Given the description of an element on the screen output the (x, y) to click on. 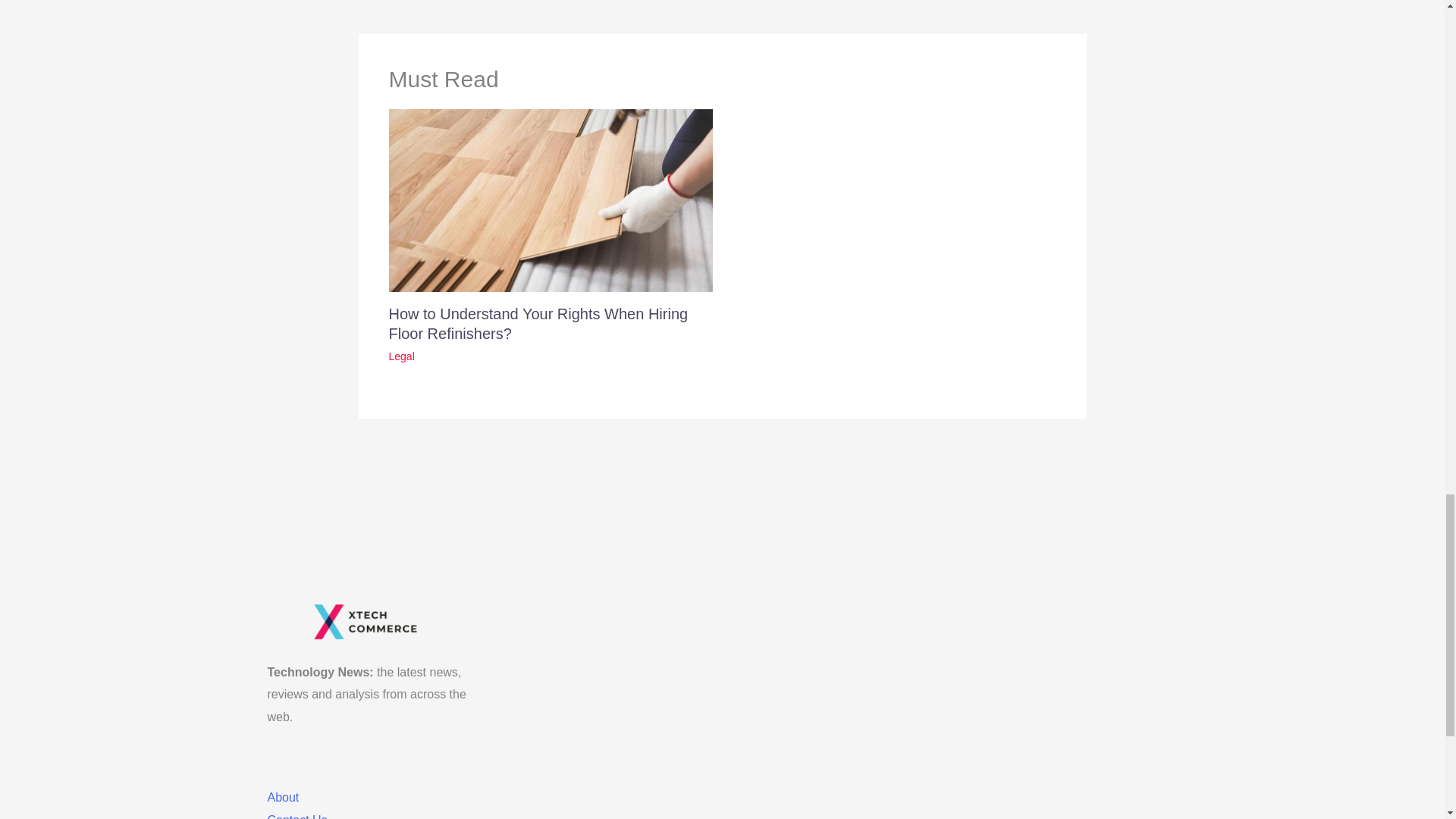
Contact Us (296, 816)
About (282, 797)
Science and Sustainability: What You Need to Know (463, 4)
How to Understand Your Rights When Hiring Floor Refinishers? (537, 323)
Legal (400, 356)
